Given the description of an element on the screen output the (x, y) to click on. 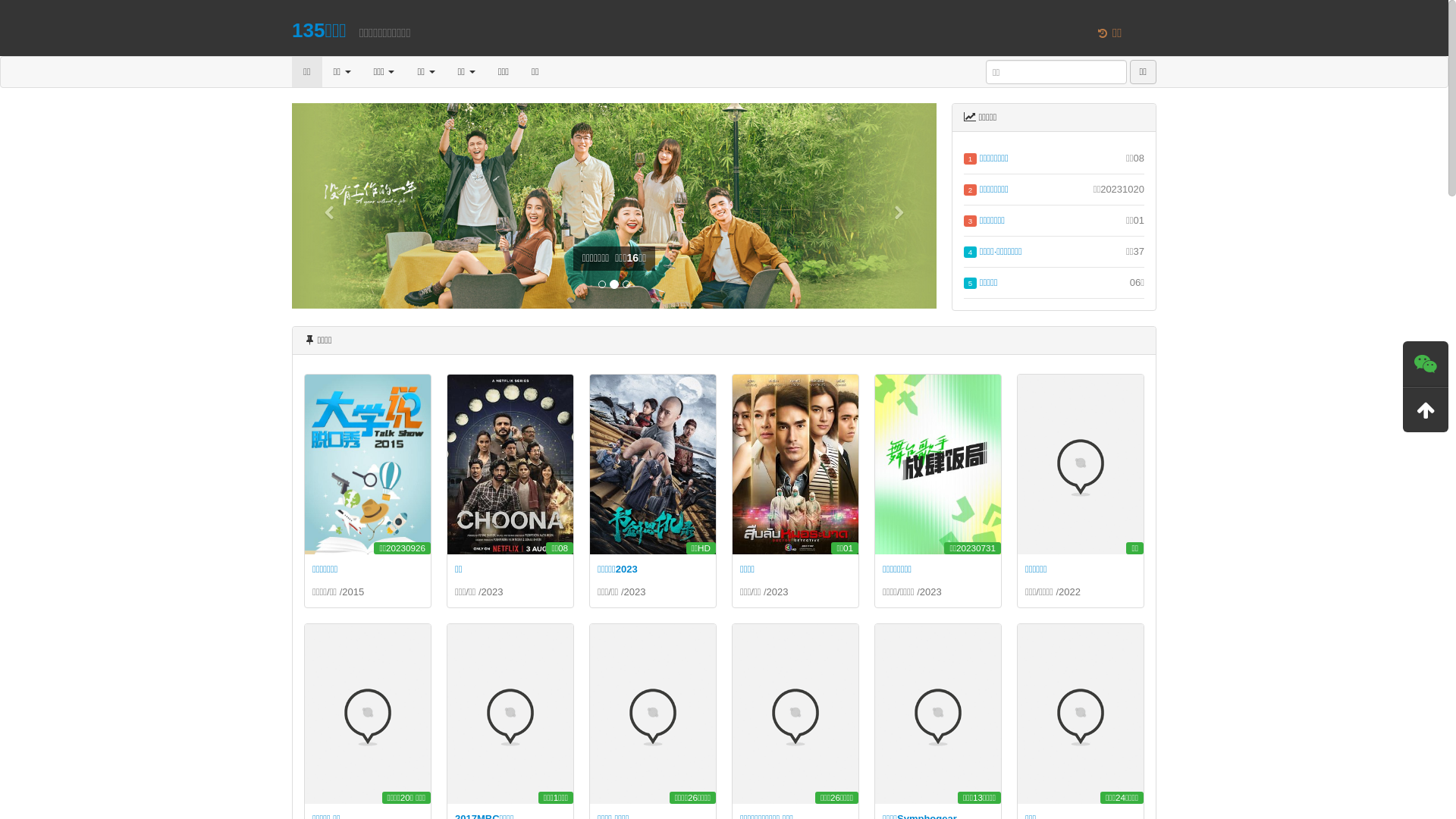
2022 Element type: text (1069, 591)
2023 Element type: text (635, 591)
2023 Element type: text (777, 591)
2023 Element type: text (492, 591)
2015 Element type: text (353, 591)
2023 Element type: text (930, 591)
